Given the description of an element on the screen output the (x, y) to click on. 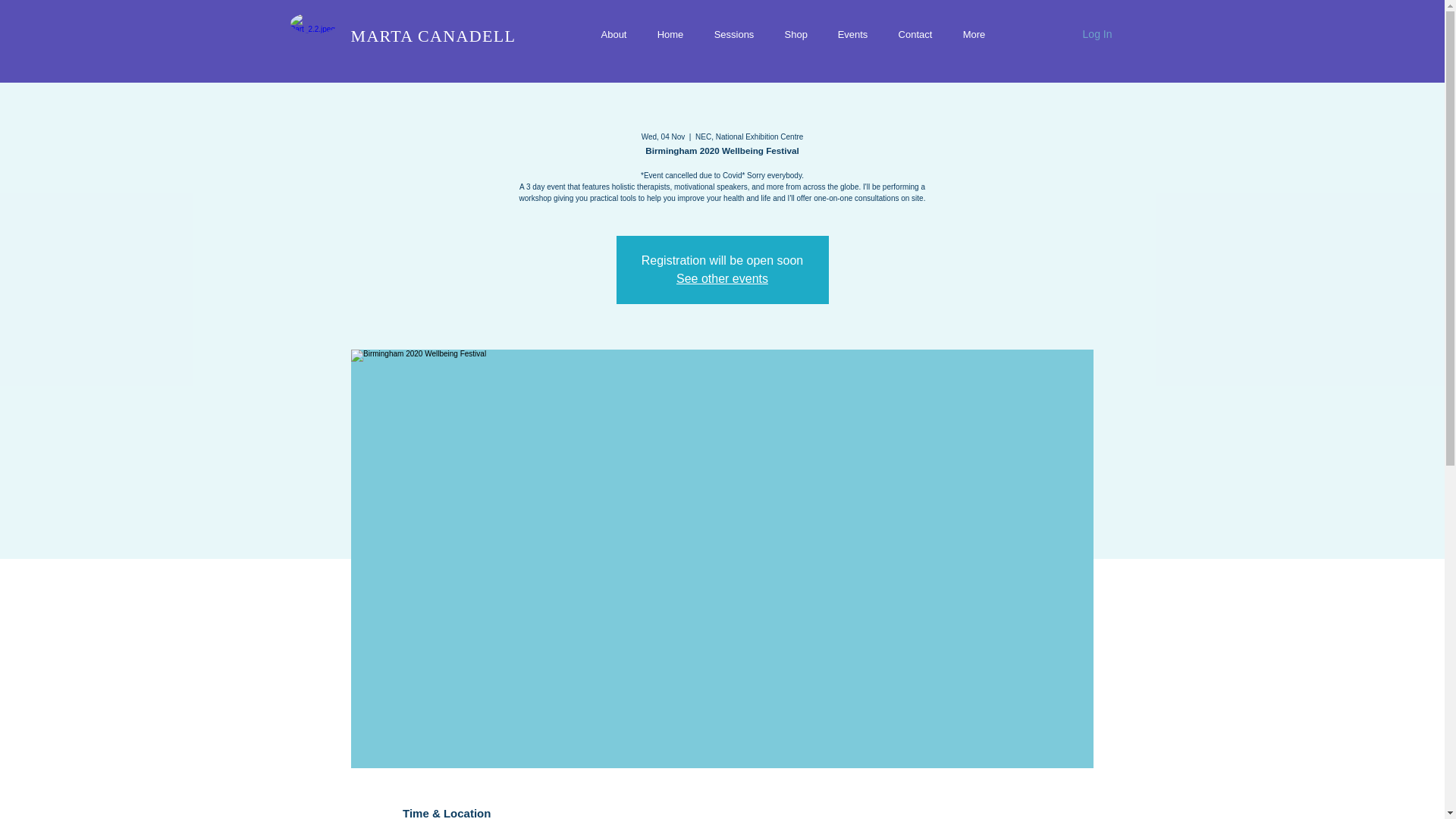
Home (670, 34)
MARTA CANADELL (432, 35)
See other events (722, 278)
Shop (795, 34)
Sessions (734, 34)
Events (852, 34)
Log In (1096, 34)
About (613, 34)
